Given the description of an element on the screen output the (x, y) to click on. 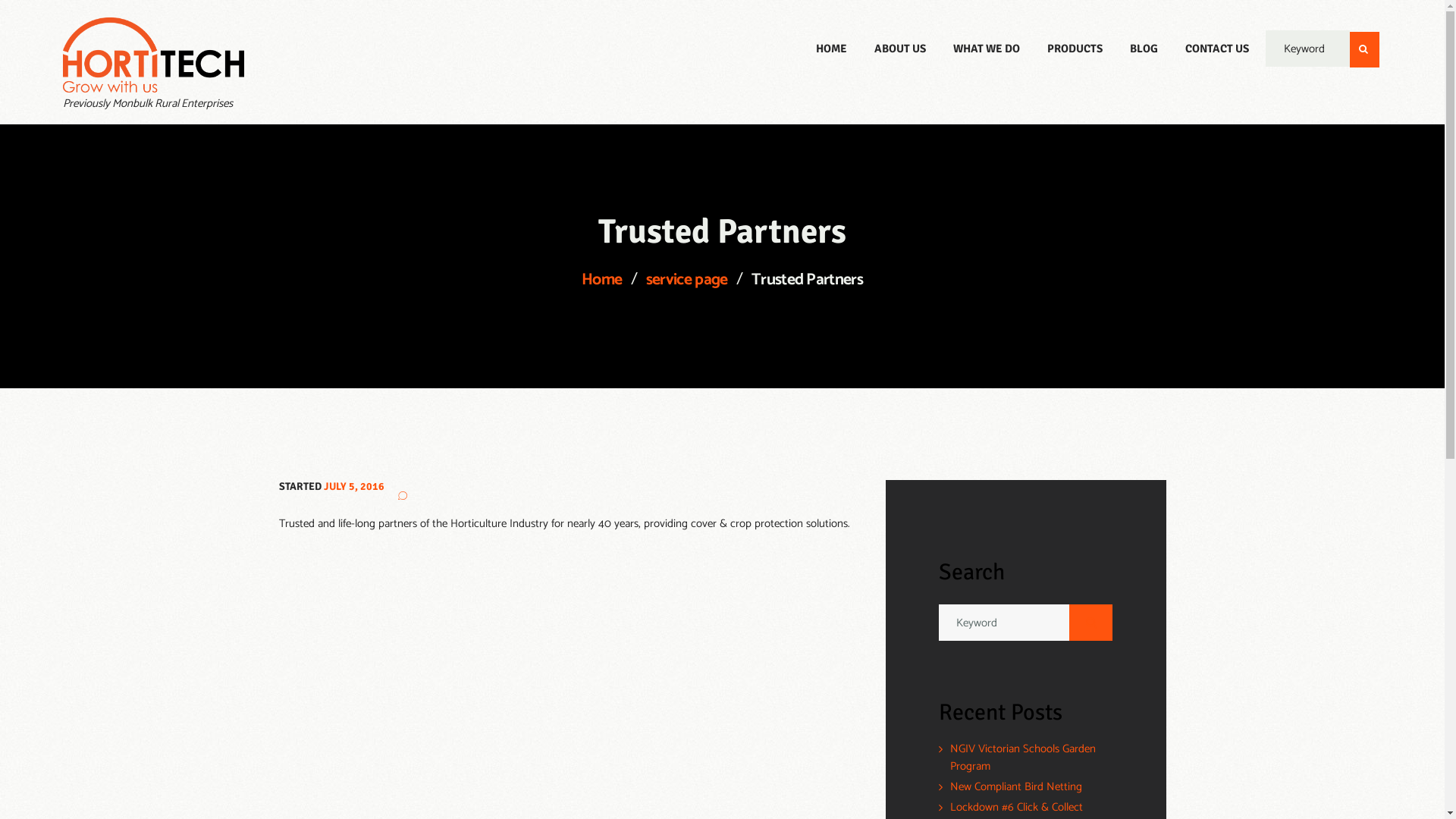
NGIV Victorian Schools Garden Program Element type: text (1022, 757)
service page Element type: text (687, 279)
JULY 5, 2016 Element type: text (353, 486)
New Compliant Bird Netting Element type: text (1016, 786)
ABOUT US Element type: text (899, 48)
CONTACT US Element type: text (1216, 48)
Search for: Element type: hover (1025, 622)
Home Element type: text (601, 279)
BLOG Element type: text (1143, 48)
PRODUCTS Element type: text (1074, 48)
WHAT WE DO Element type: text (986, 48)
Search for: Element type: hover (1307, 48)
Previously Monbulk Rural Enterprises Element type: text (152, 64)
HOME Element type: text (831, 48)
